Given the description of an element on the screen output the (x, y) to click on. 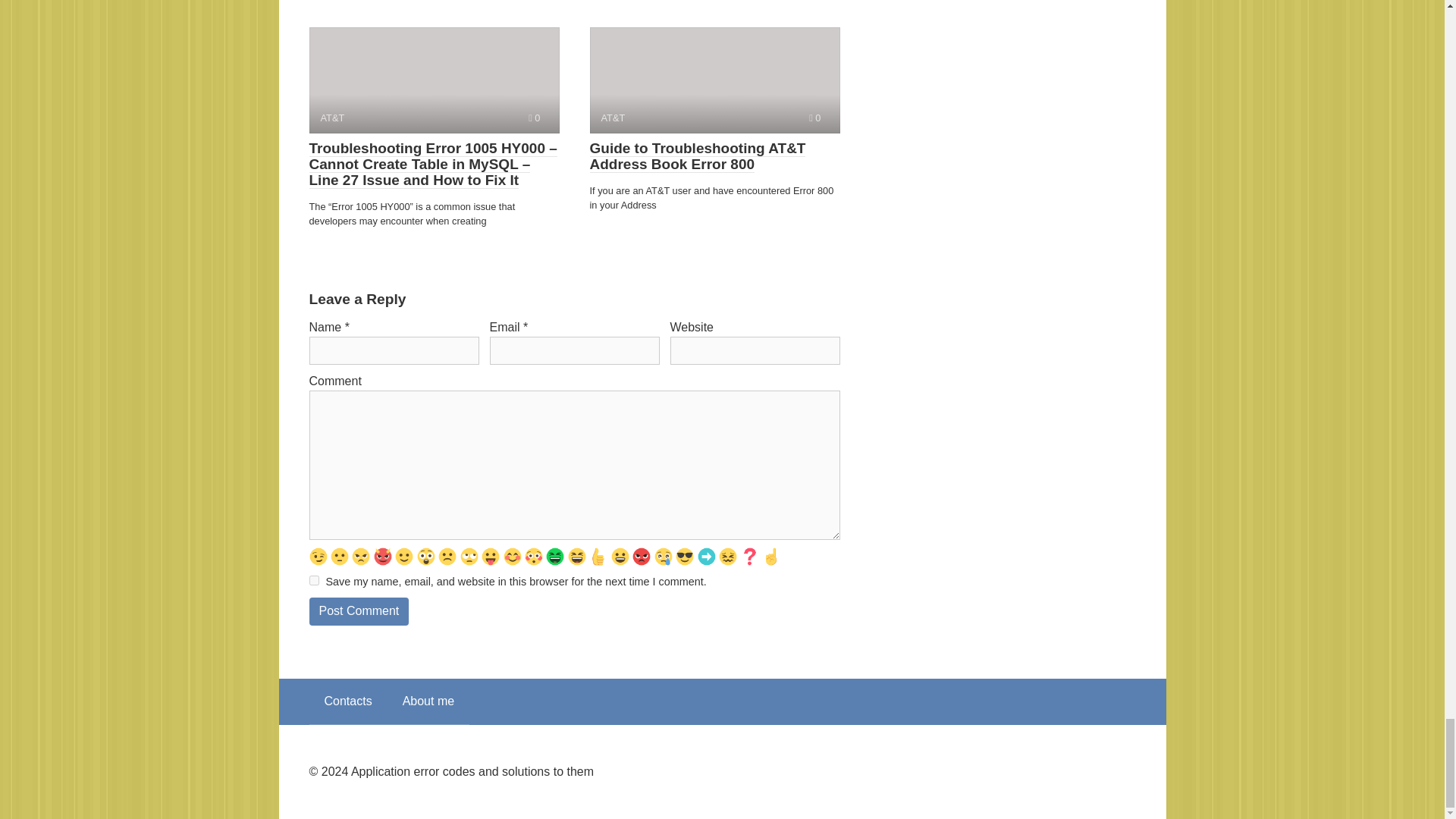
yes (313, 580)
Comments (534, 117)
Post Comment (358, 611)
Comments (815, 117)
Post Comment (358, 611)
